Given the description of an element on the screen output the (x, y) to click on. 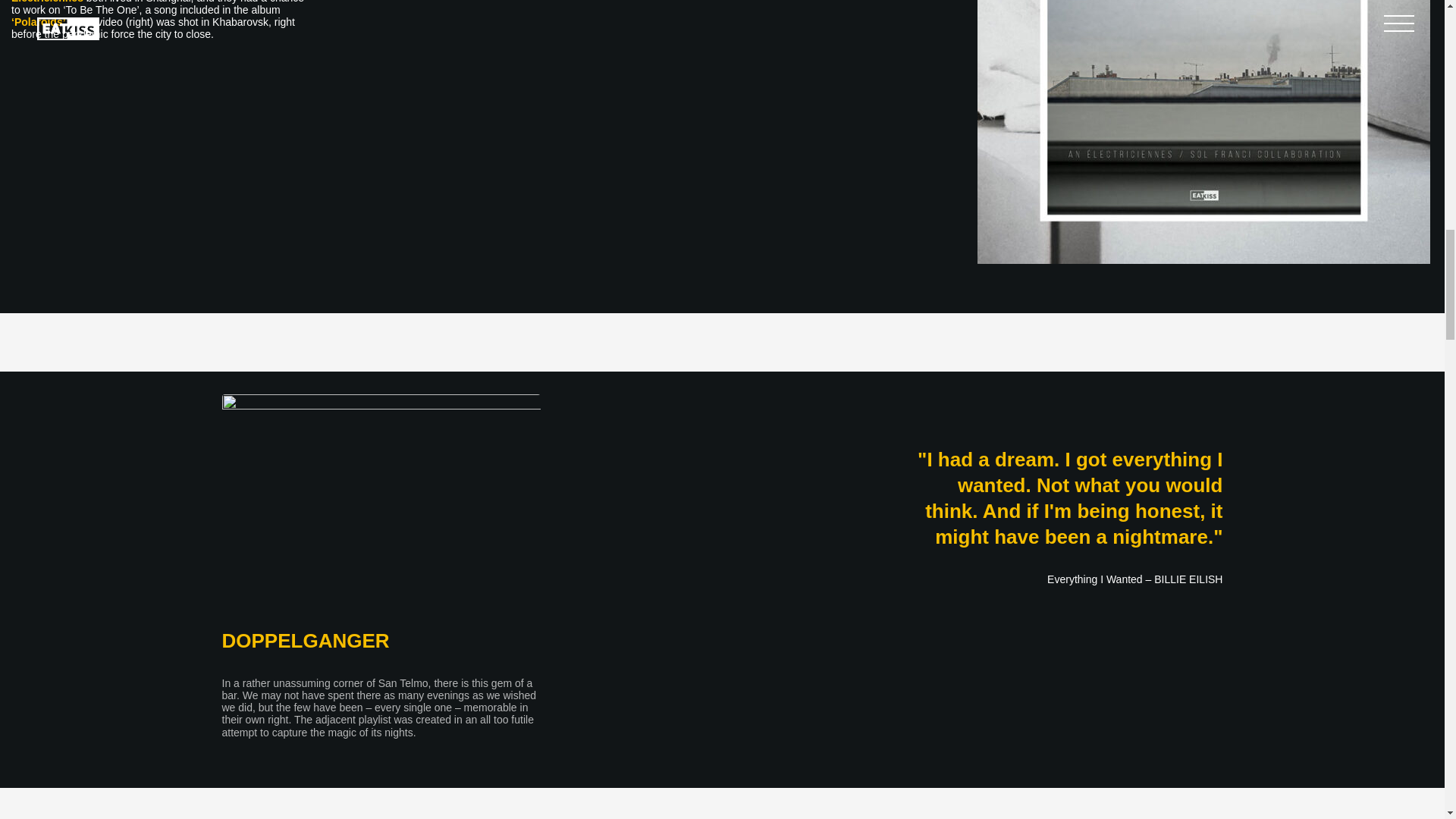
DOPPELGANGER (304, 640)
Doppelganger (380, 497)
Waiting Ad (1202, 131)
